Given the description of an element on the screen output the (x, y) to click on. 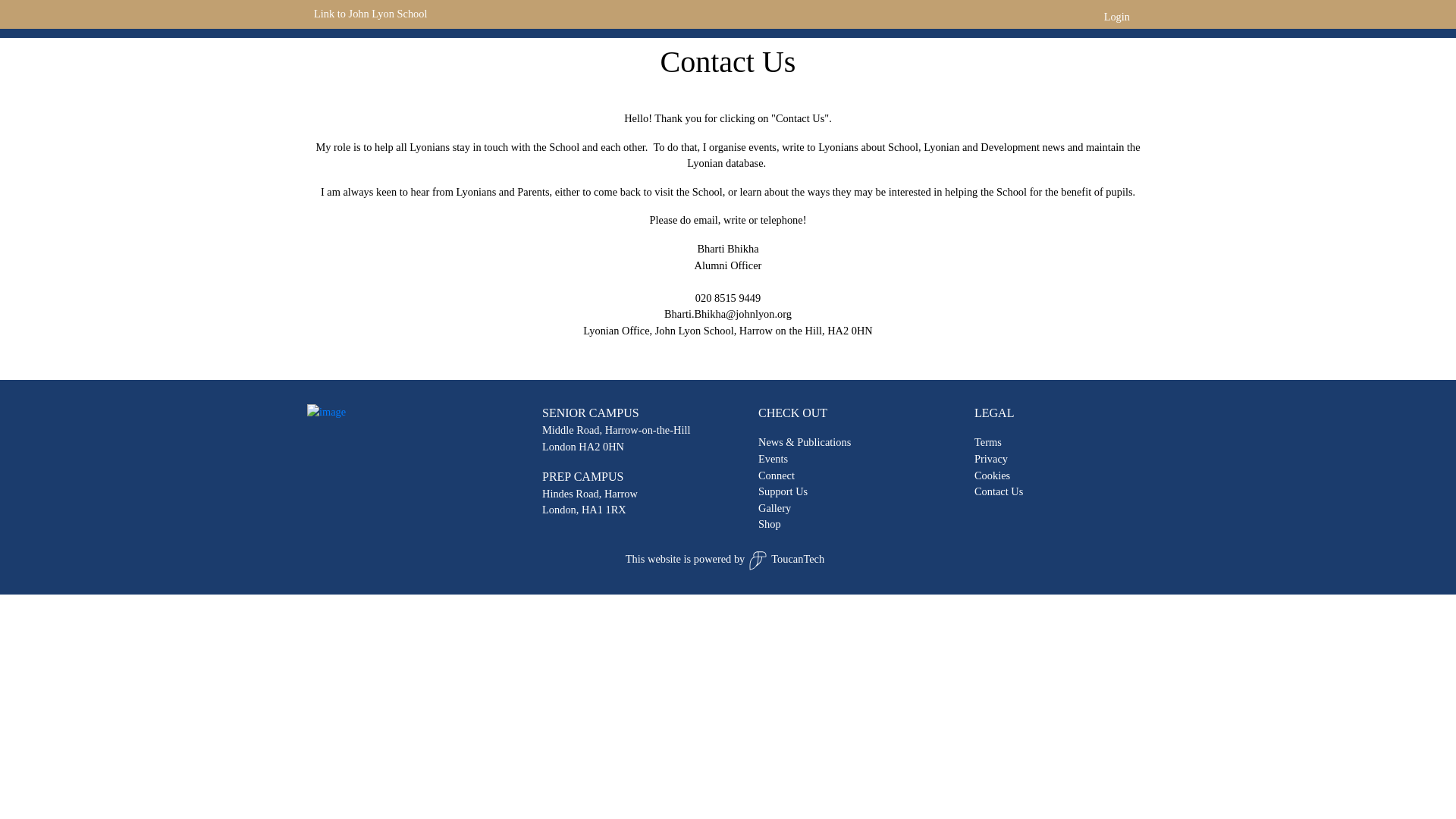
Connect (909, 18)
Terms (987, 441)
Events (858, 18)
Login (1116, 16)
Gallery (774, 508)
Gallery (1097, 18)
Support Us (968, 18)
Connect (776, 475)
Cookies (992, 475)
Publications (1037, 18)
